Given the description of an element on the screen output the (x, y) to click on. 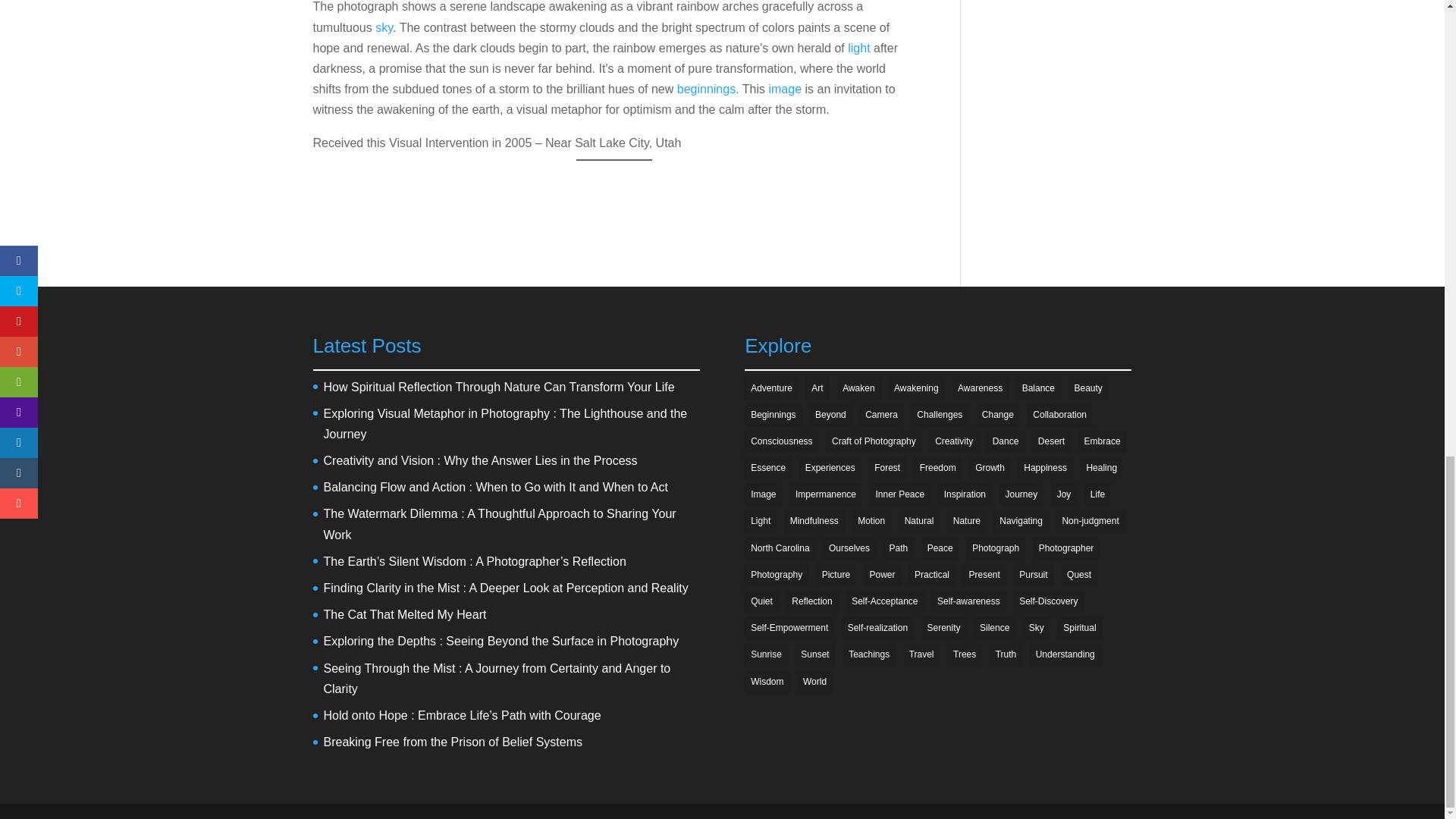
Posts tagged with Sky (384, 27)
Posts tagged with Light (858, 47)
image (785, 88)
sky (384, 27)
Posts tagged with Image (785, 88)
Posts tagged with Beginnings (706, 88)
light (858, 47)
beginnings (706, 88)
